Given the description of an element on the screen output the (x, y) to click on. 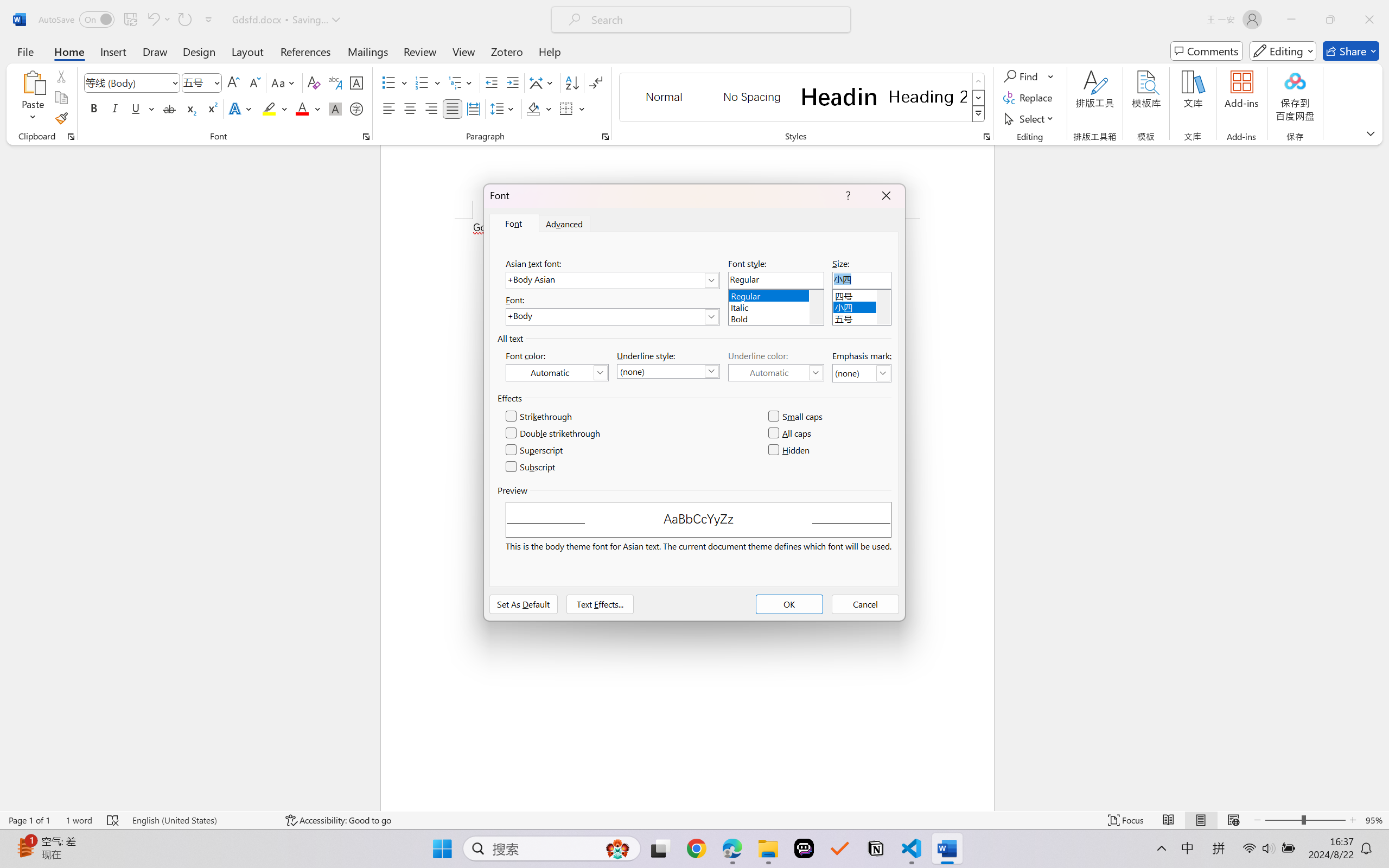
Decrease Indent (491, 82)
Small caps (796, 416)
Shading (539, 108)
Underline Color (Automatic) (775, 372)
Text Effects... (599, 603)
Shrink Font (253, 82)
Text Highlight Color Yellow (269, 108)
AutomationID: 1797 (883, 306)
